Given the description of an element on the screen output the (x, y) to click on. 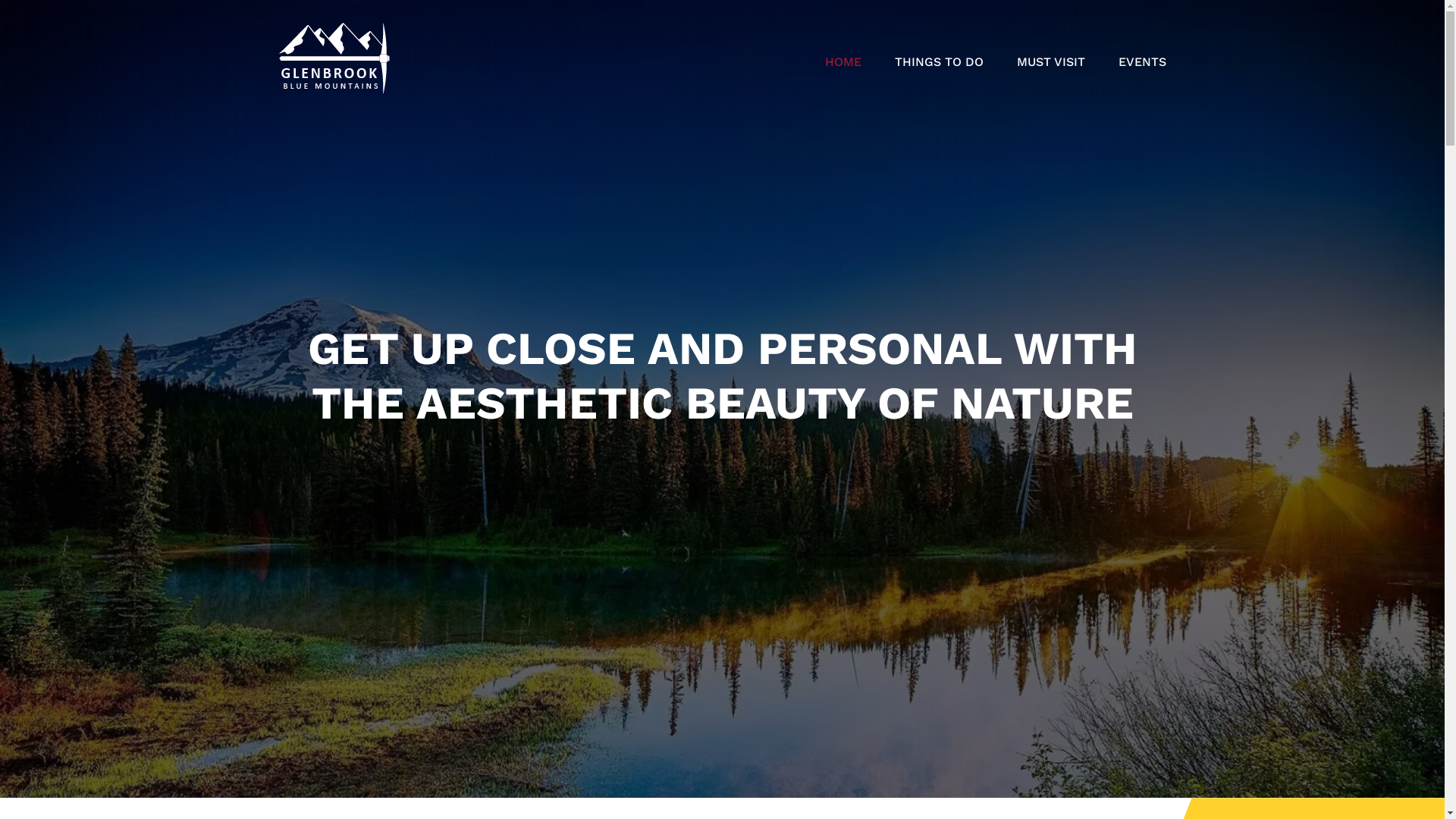
Logo Element type: hover (340, 58)
MUST VISIT Element type: text (1050, 61)
THINGS TO DO Element type: text (938, 61)
EVENTS Element type: text (1141, 61)
HOME Element type: text (843, 61)
